Given the description of an element on the screen output the (x, y) to click on. 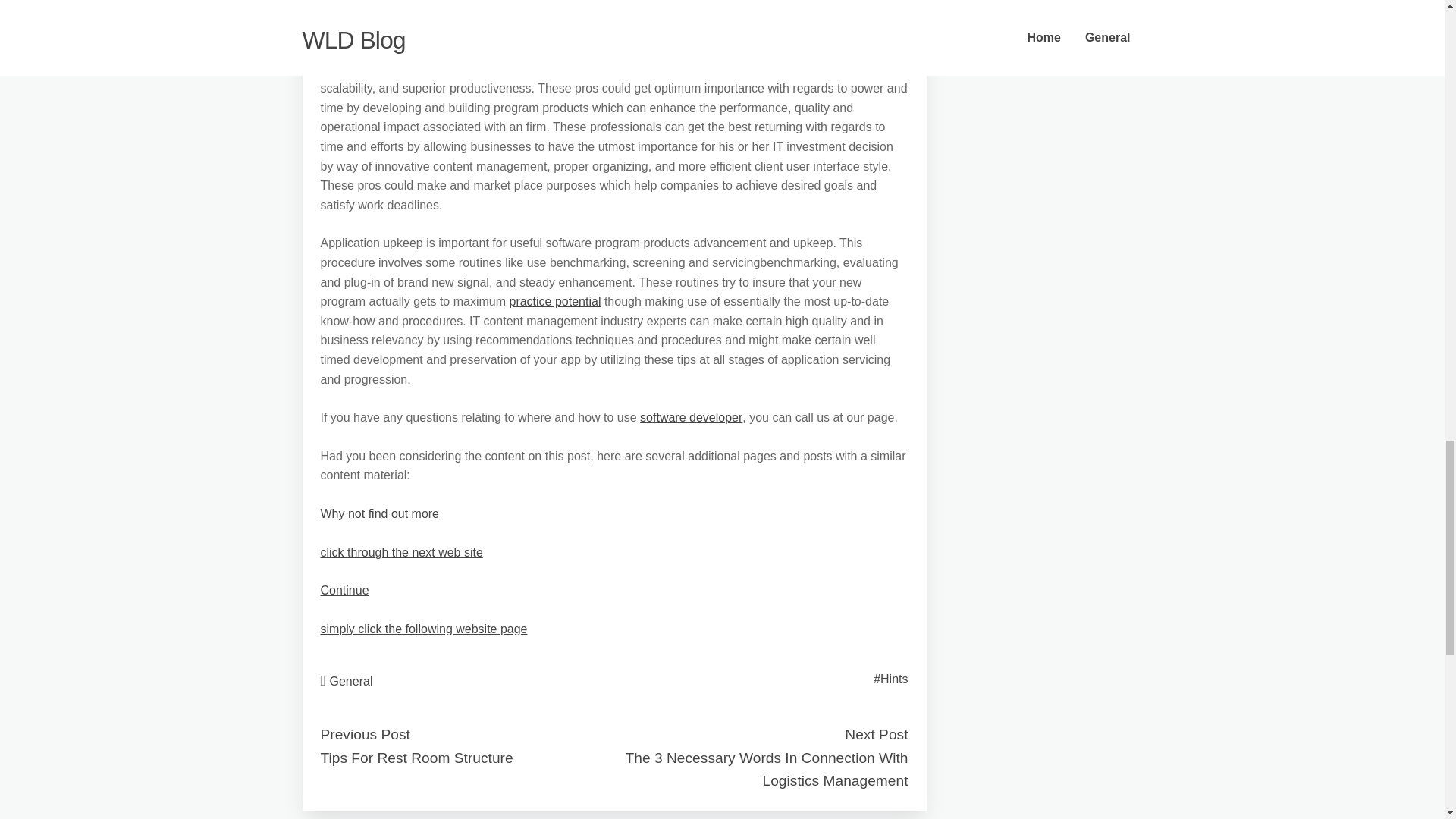
practice potential (553, 300)
Why not find out more (379, 513)
click through the next web site (400, 552)
Next Post (875, 734)
Tips For Rest Room Structure (416, 757)
software developer (691, 417)
General (351, 680)
Continue (344, 590)
Previous Post (364, 734)
